Given the description of an element on the screen output the (x, y) to click on. 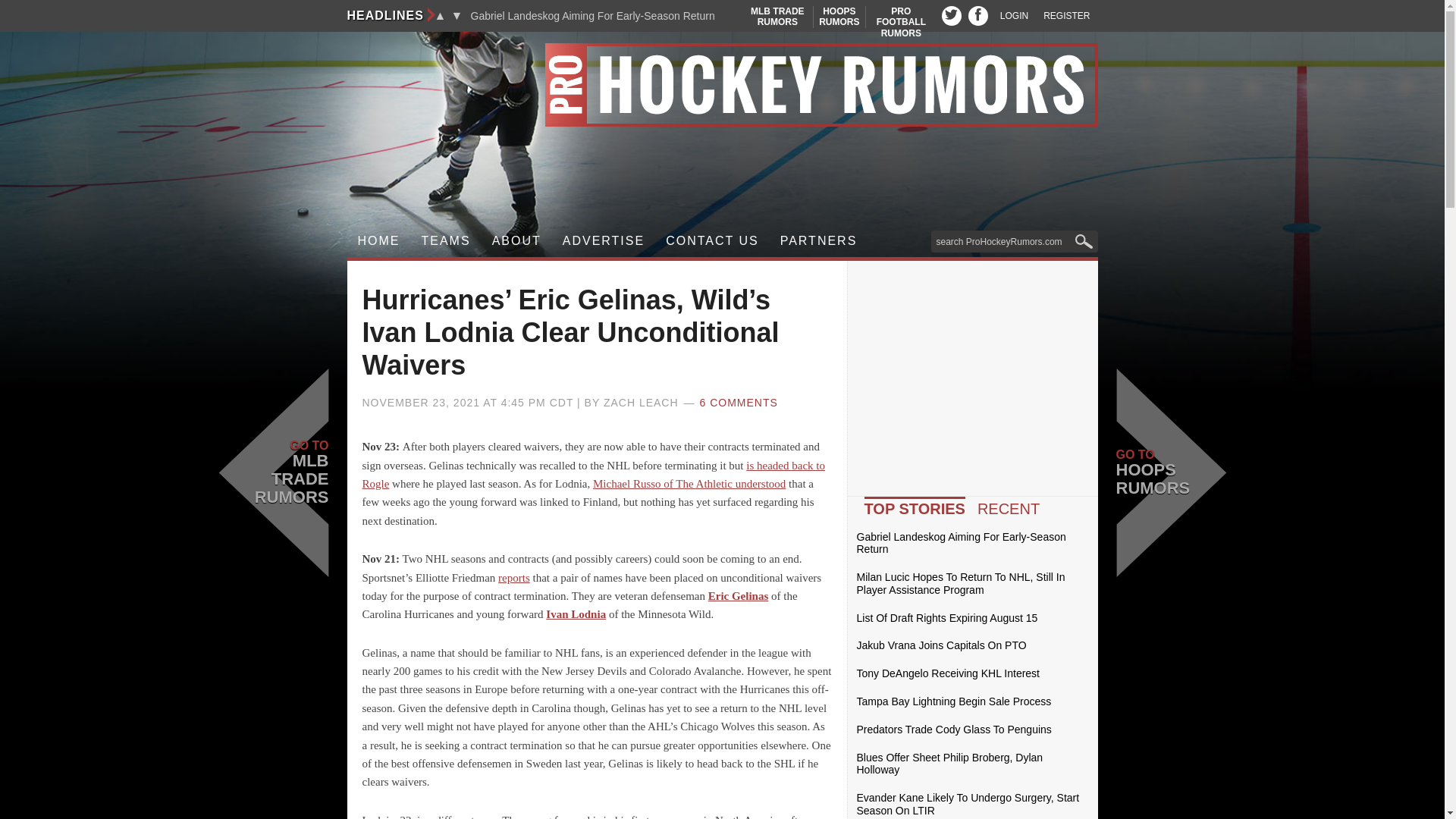
Twitter profile (951, 15)
Previous (439, 15)
TEAMS (901, 21)
REGISTER (445, 241)
HOME (838, 16)
Search (1066, 15)
LOGIN (378, 241)
